Given the description of an element on the screen output the (x, y) to click on. 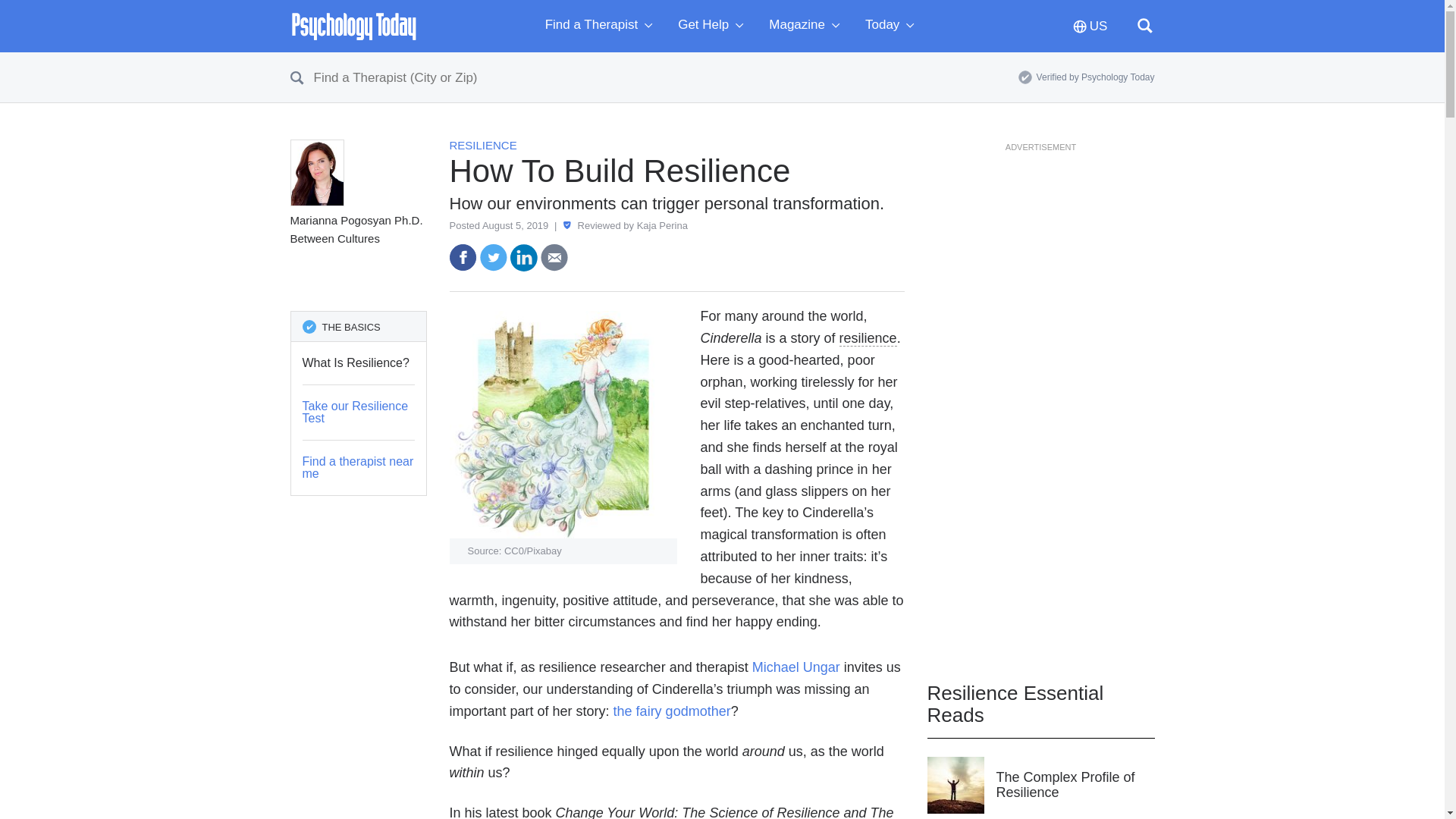
Find a Therapist (602, 25)
Get Help (714, 25)
Psychology Today (352, 25)
